Given the description of an element on the screen output the (x, y) to click on. 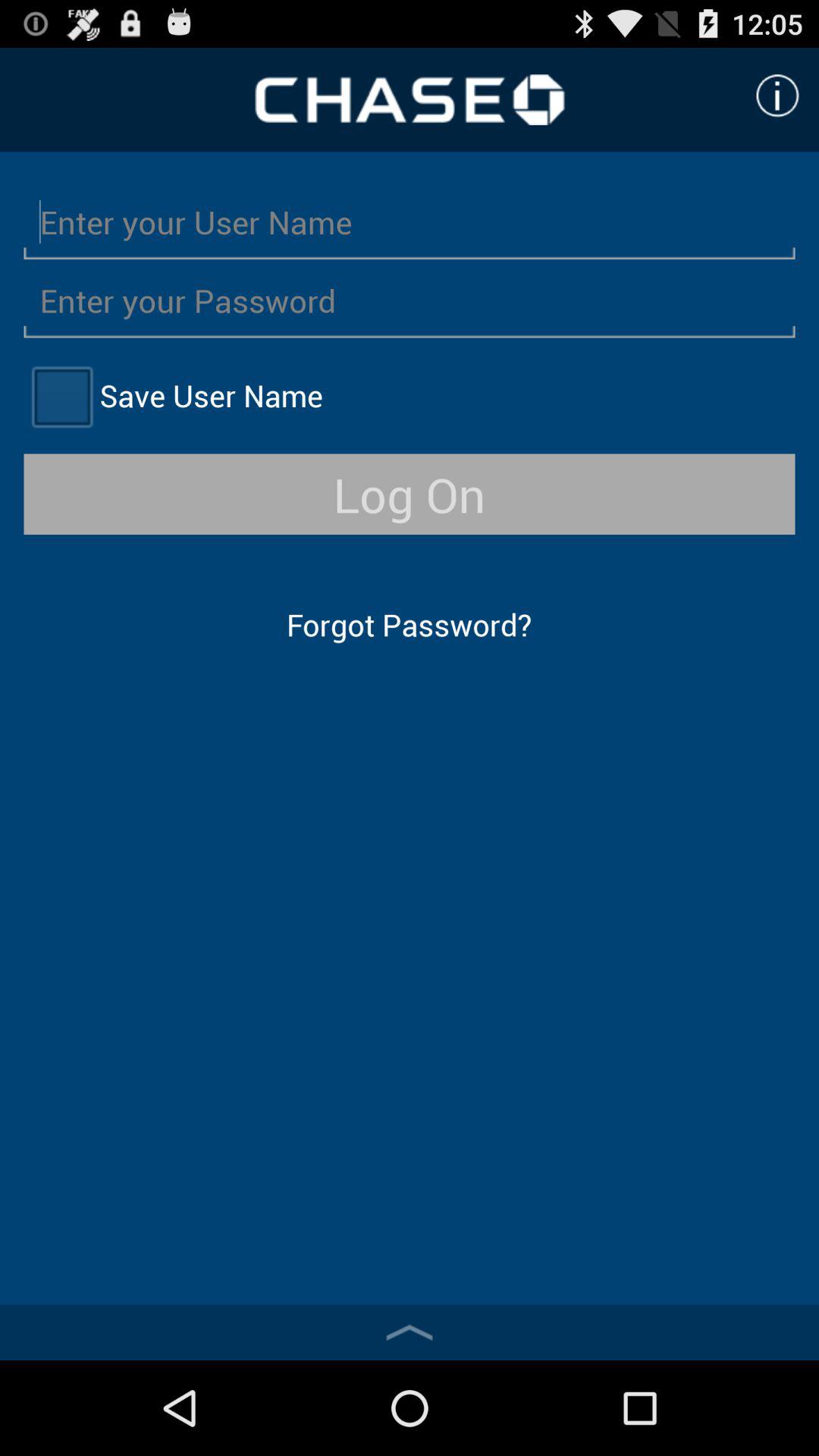
open icon to the left of save user name (61, 395)
